Given the description of an element on the screen output the (x, y) to click on. 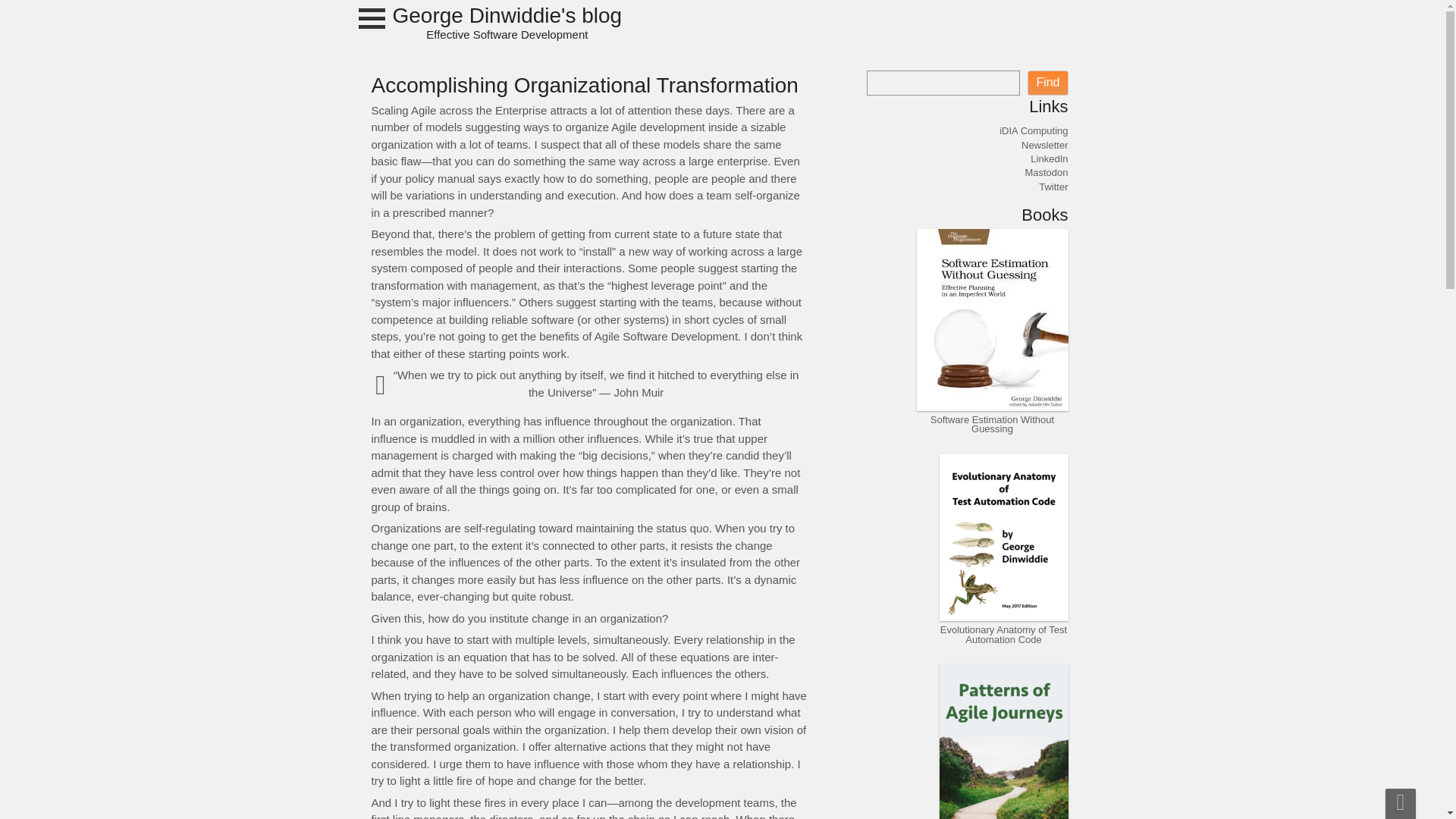
iDIA Computing (1032, 130)
Twitter (1053, 186)
my company (1032, 130)
Find (1047, 82)
LinkedIn (1048, 158)
Software Estimation Without Guessing (992, 424)
follow me on Mastodon (1046, 172)
George Dinwiddie's blog (508, 22)
Mastodon (1046, 172)
Evolutionary Anatomy of Test Automation Code (1003, 634)
